Given the description of an element on the screen output the (x, y) to click on. 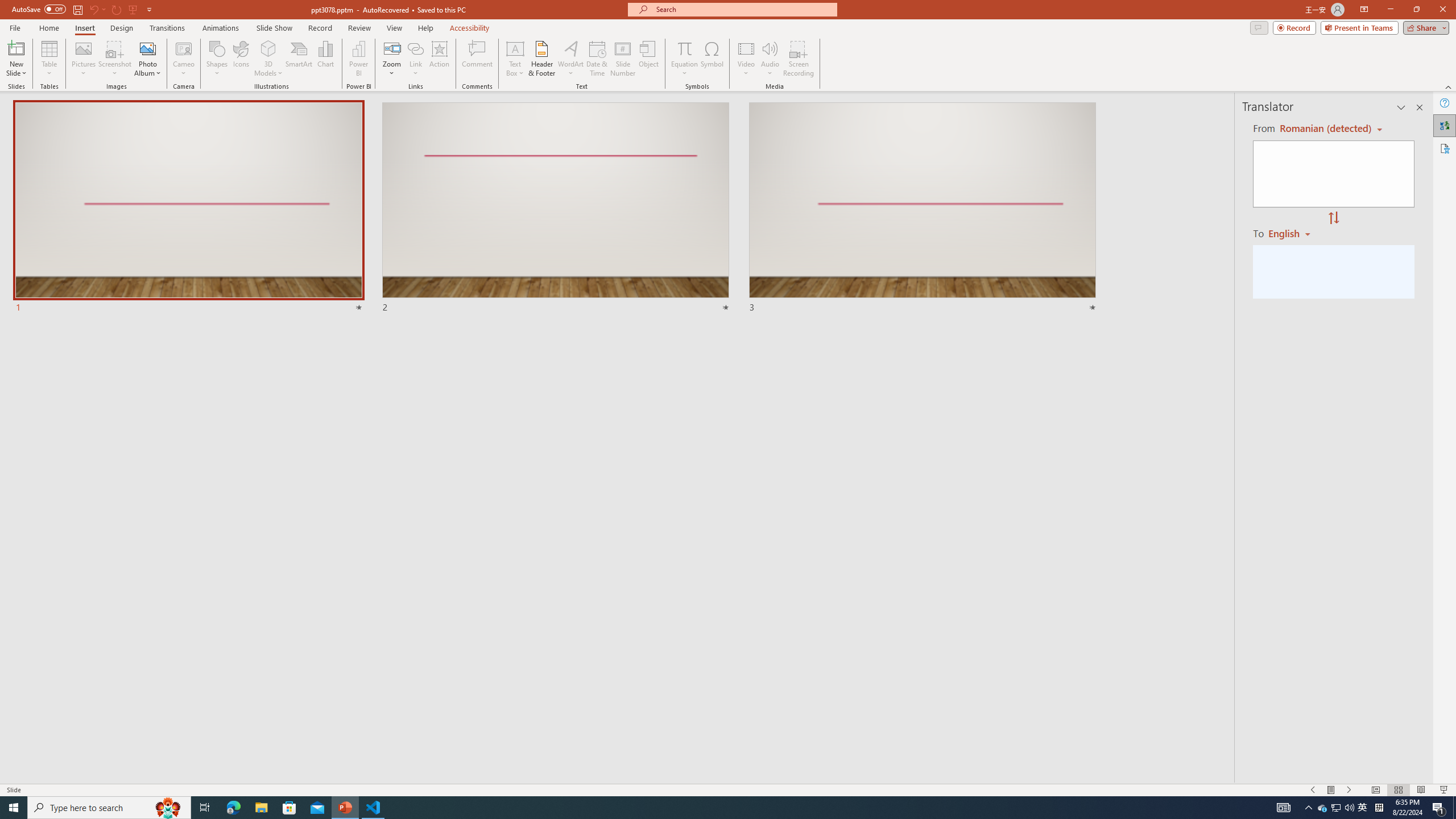
Slide Show Previous On (1313, 790)
Header & Footer... (541, 58)
Chart... (325, 58)
Action (439, 58)
